Given the description of an element on the screen output the (x, y) to click on. 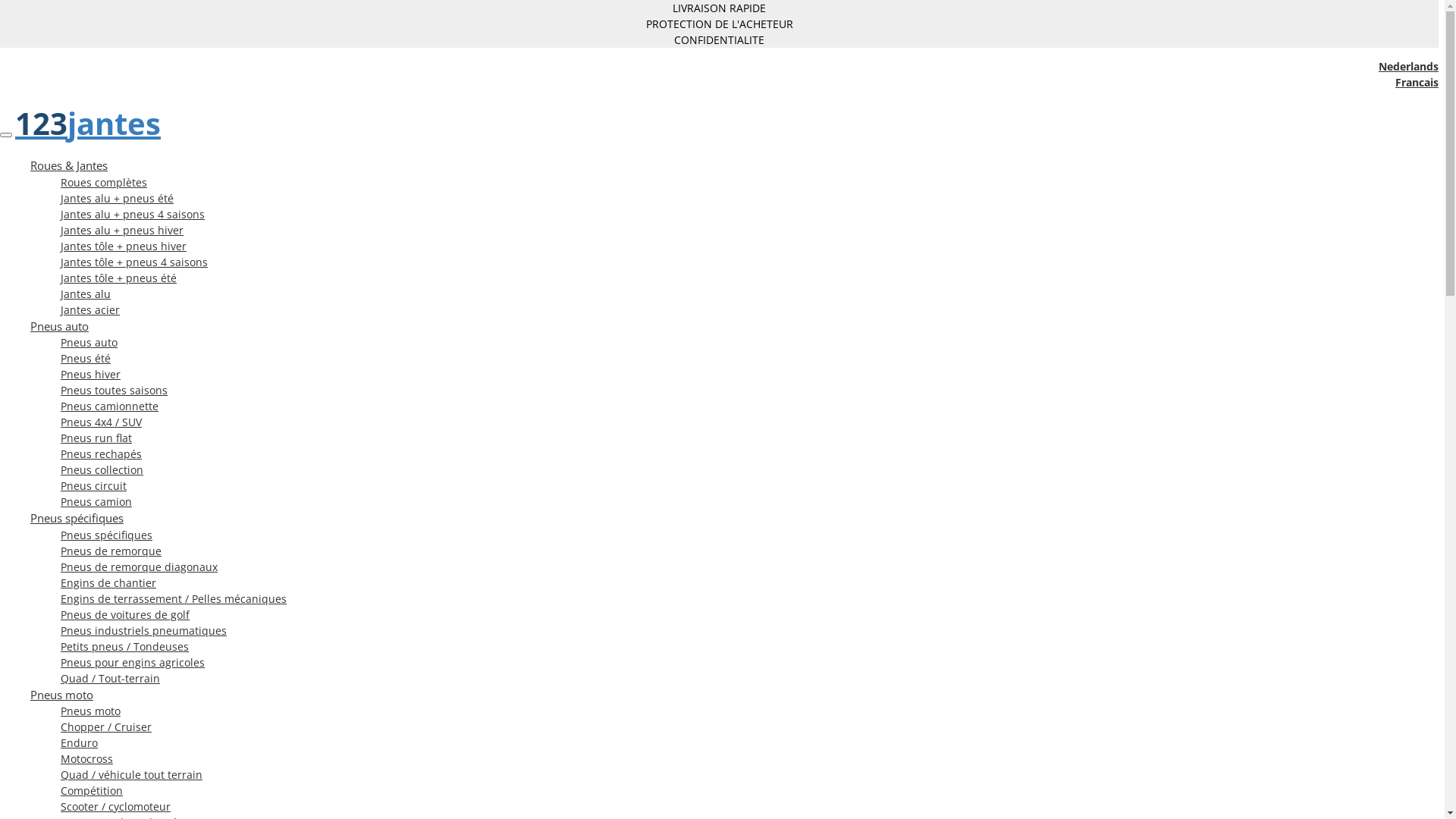
123jantes Element type: text (87, 123)
Nederlands Element type: text (1408, 66)
Toggle navigation Element type: text (6, 134)
Chopper / Cruiser Element type: text (105, 726)
Pneus circuit Element type: text (93, 485)
Jantes alu + pneus 4 saisons Element type: text (132, 213)
Scooter / cyclomoteur Element type: text (115, 806)
Jantes alu + pneus hiver Element type: text (121, 229)
Pneus 4x4 / SUV Element type: text (100, 421)
Pneus toutes saisons Element type: text (113, 389)
Pneus run flat Element type: text (95, 437)
Francais Element type: text (1416, 82)
Pneus moto Element type: text (90, 710)
Pneus camionnette Element type: text (109, 405)
Pneus moto Element type: text (61, 694)
Pneus hiver Element type: text (90, 374)
Pneus camion Element type: text (95, 501)
Petits pneus / Tondeuses Element type: text (124, 645)
Pneus auto Element type: text (88, 342)
Pneus pour engins agricoles Element type: text (132, 662)
Pneus de remorque Element type: text (110, 549)
Enduro Element type: text (78, 742)
Pneus de voitures de golf Element type: text (124, 613)
Motocross Element type: text (86, 758)
Pneus industriels pneumatiques Element type: text (143, 630)
Pneus auto Element type: text (59, 325)
Pneus de remorque diagonaux Element type: text (138, 566)
Jantes alu Element type: text (85, 293)
Roues & Jantes Element type: text (68, 164)
Pneus collection Element type: text (101, 469)
Engins de chantier Element type: text (108, 581)
Jantes acier Element type: text (89, 308)
Quad / Tout-terrain Element type: text (110, 677)
